Given the description of an element on the screen output the (x, y) to click on. 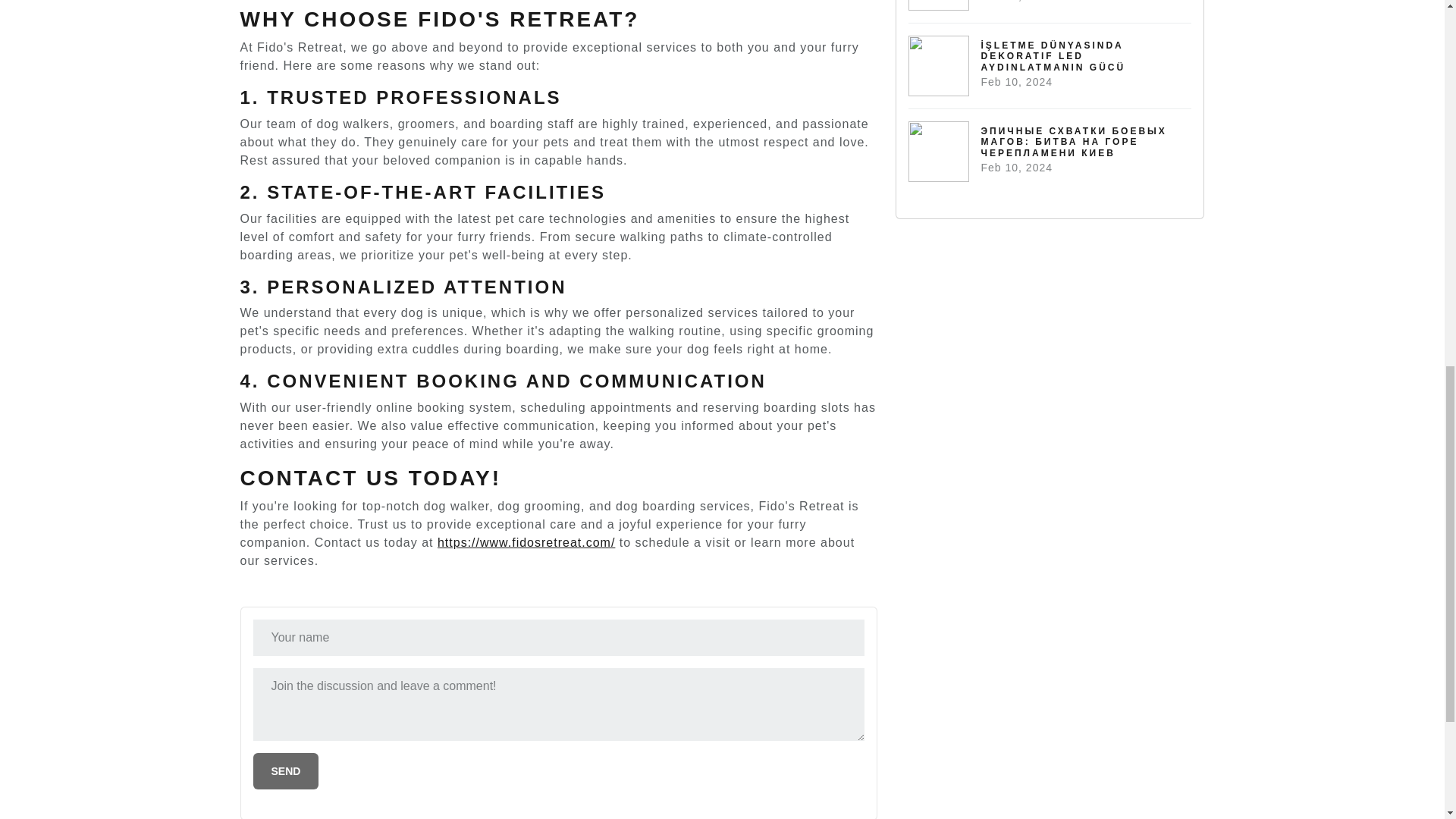
Send (285, 770)
Send (285, 770)
